Given the description of an element on the screen output the (x, y) to click on. 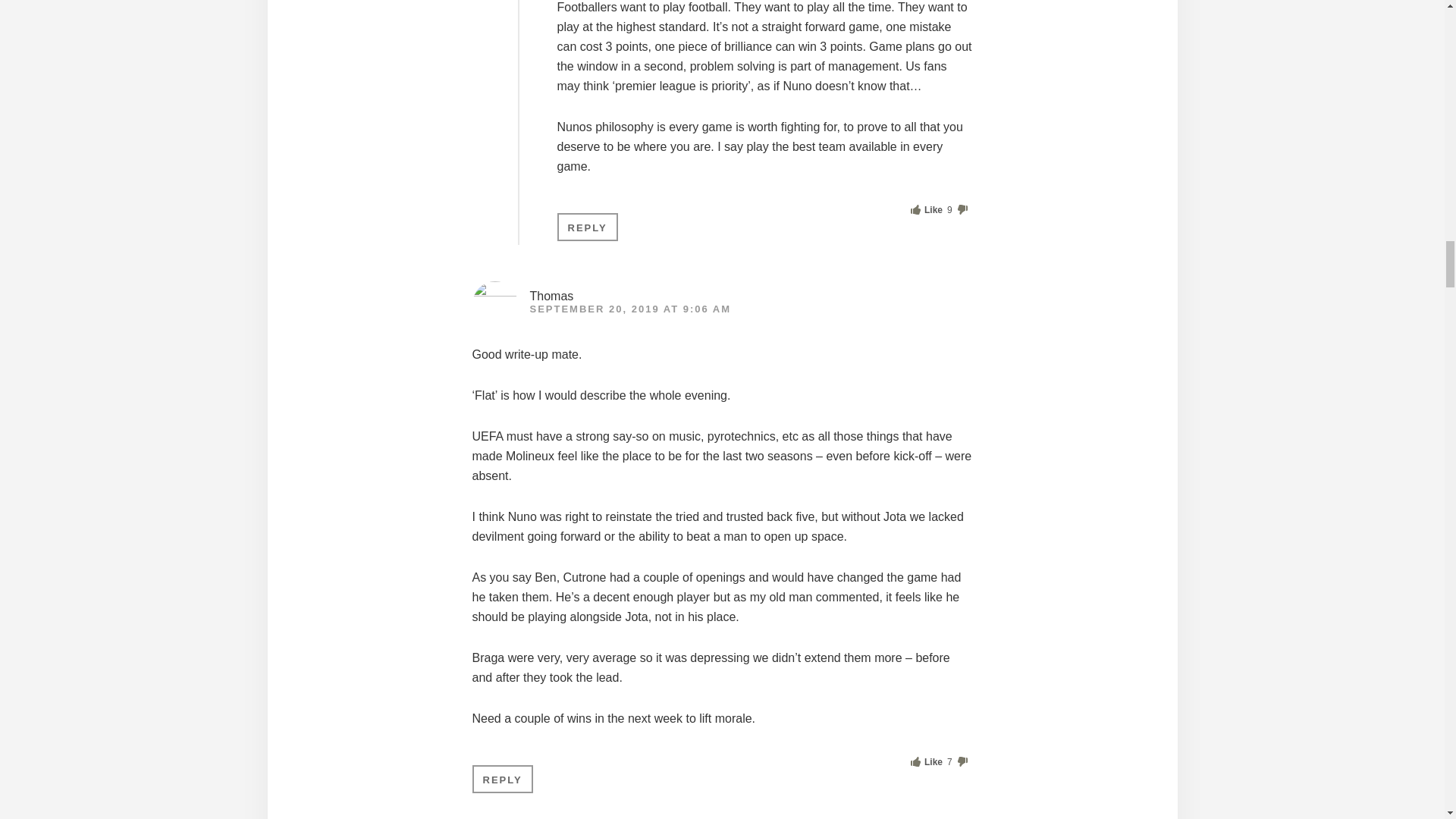
SEPTEMBER 20, 2019 AT 9:06 AM (629, 308)
REPLY (501, 778)
REPLY (586, 226)
